Given the description of an element on the screen output the (x, y) to click on. 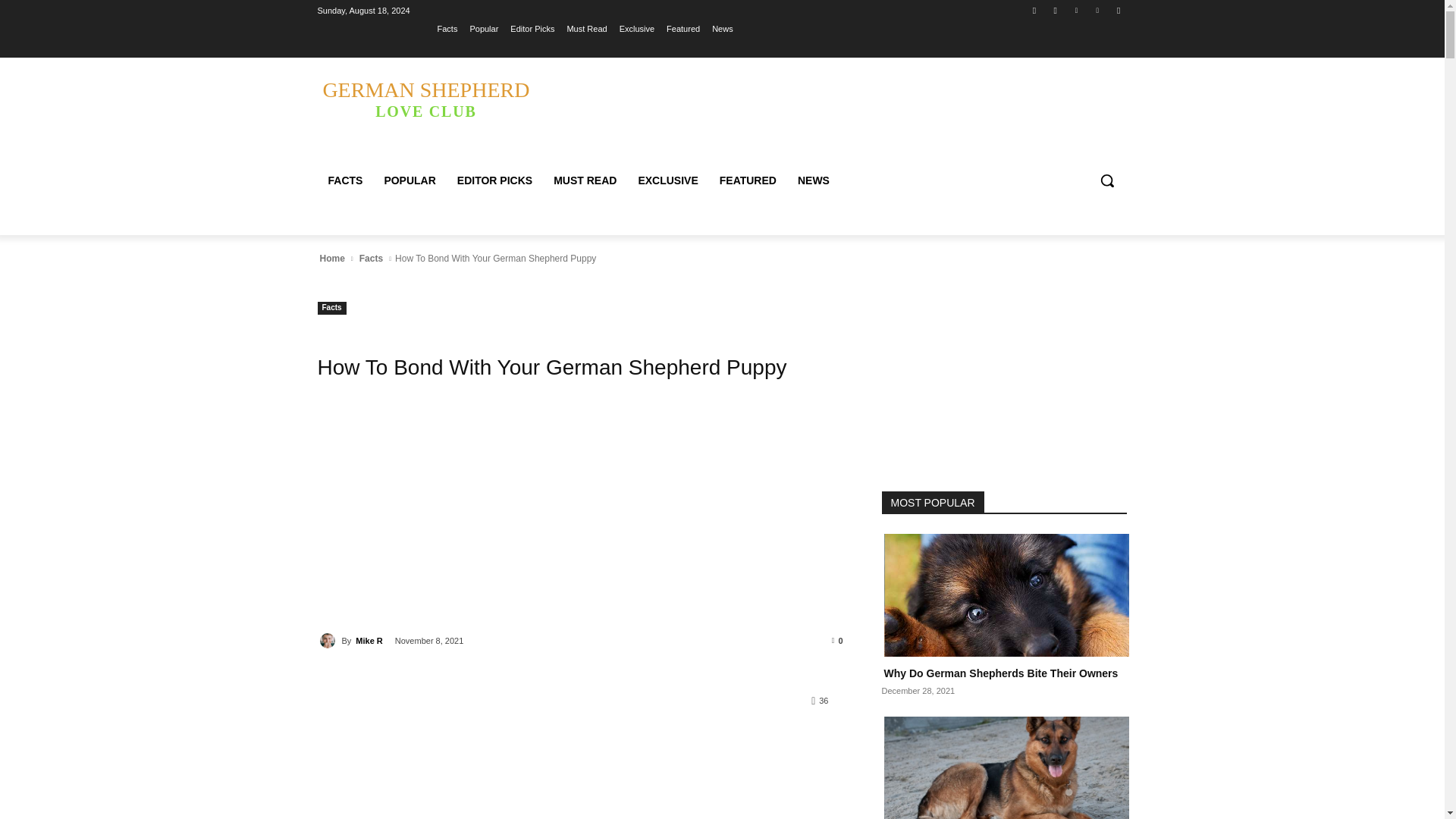
EXCLUSIVE (667, 180)
Must Read (586, 28)
Vimeo (1097, 9)
MUST READ (585, 180)
View all posts in Facts (370, 258)
NEWS (813, 180)
Mike R (328, 640)
Exclusive (636, 28)
POPULAR (408, 180)
Editor Picks (532, 28)
